Given the description of an element on the screen output the (x, y) to click on. 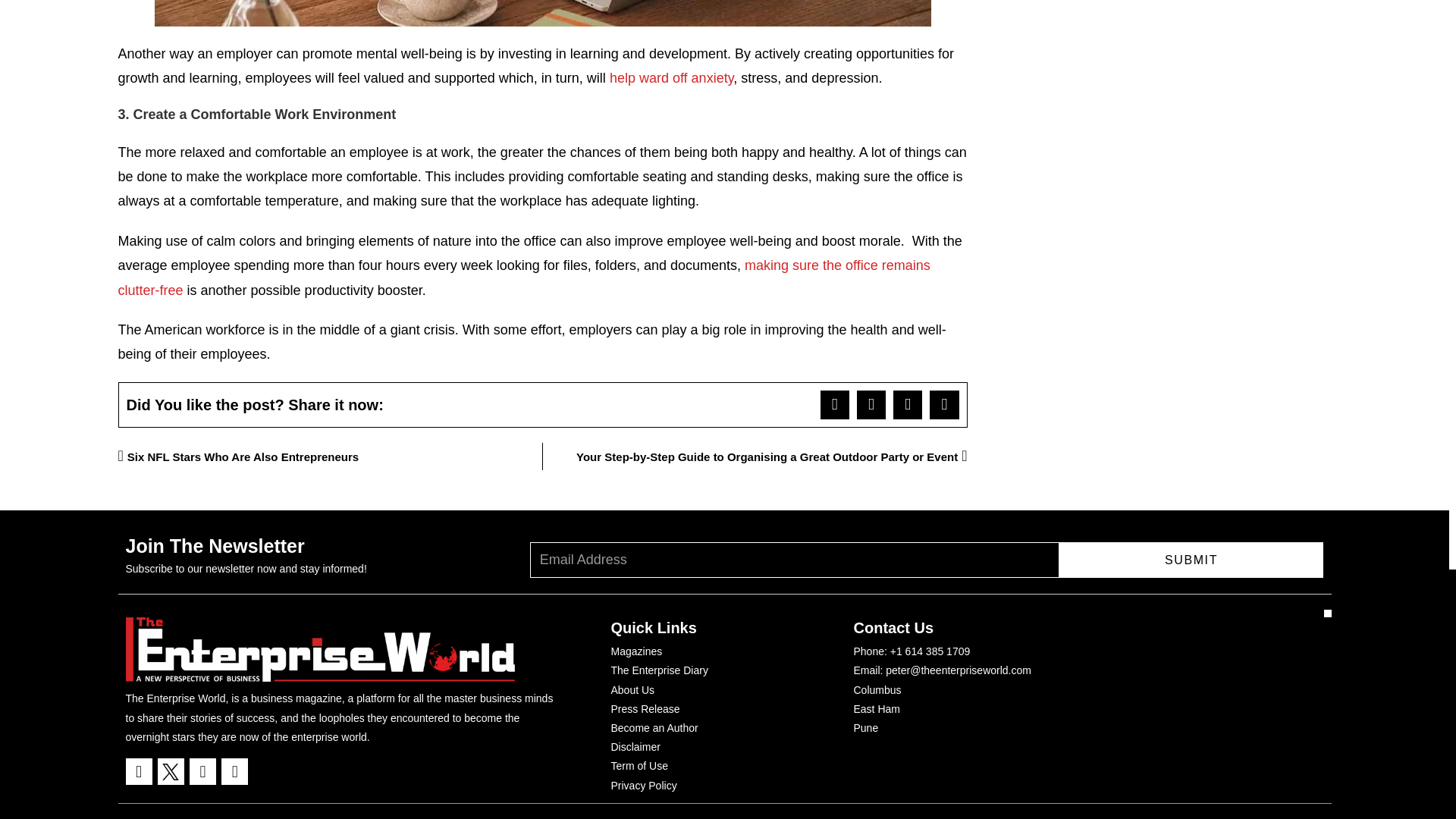
Six NFL Stars Who Are Also Entrepreneurs (330, 456)
help ward off anxiety (671, 77)
making sure the office remains clutter-free (523, 277)
Magazines (636, 651)
SUBMIT (1191, 560)
